Given the description of an element on the screen output the (x, y) to click on. 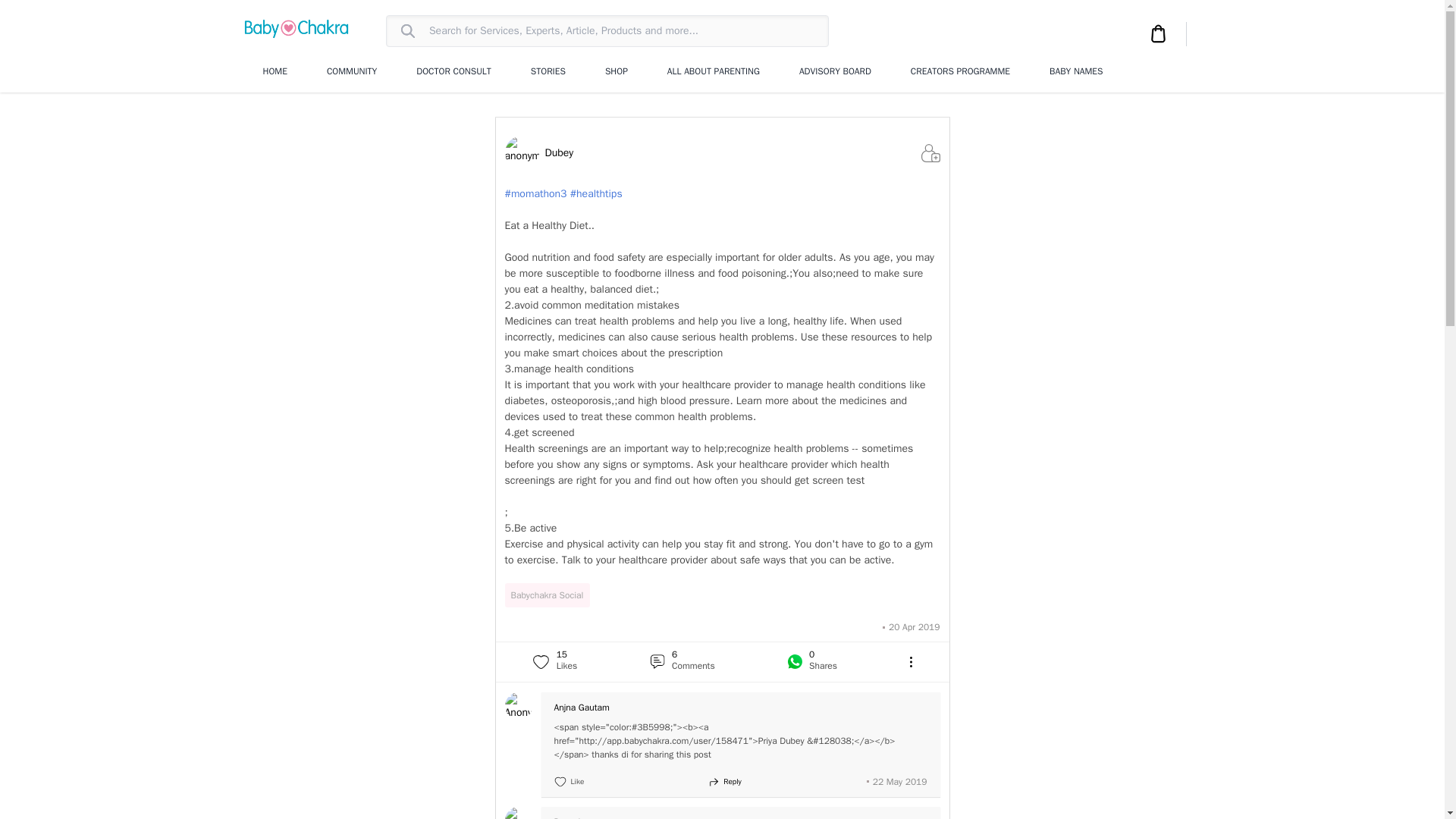
ALL ABOUT PARENTING (713, 71)
DOCTOR CONSULT (453, 71)
ADVISORY BOARD (834, 71)
STORIES (548, 71)
COMMUNITY (351, 71)
CREATORS PROGRAMME (959, 71)
